Given the description of an element on the screen output the (x, y) to click on. 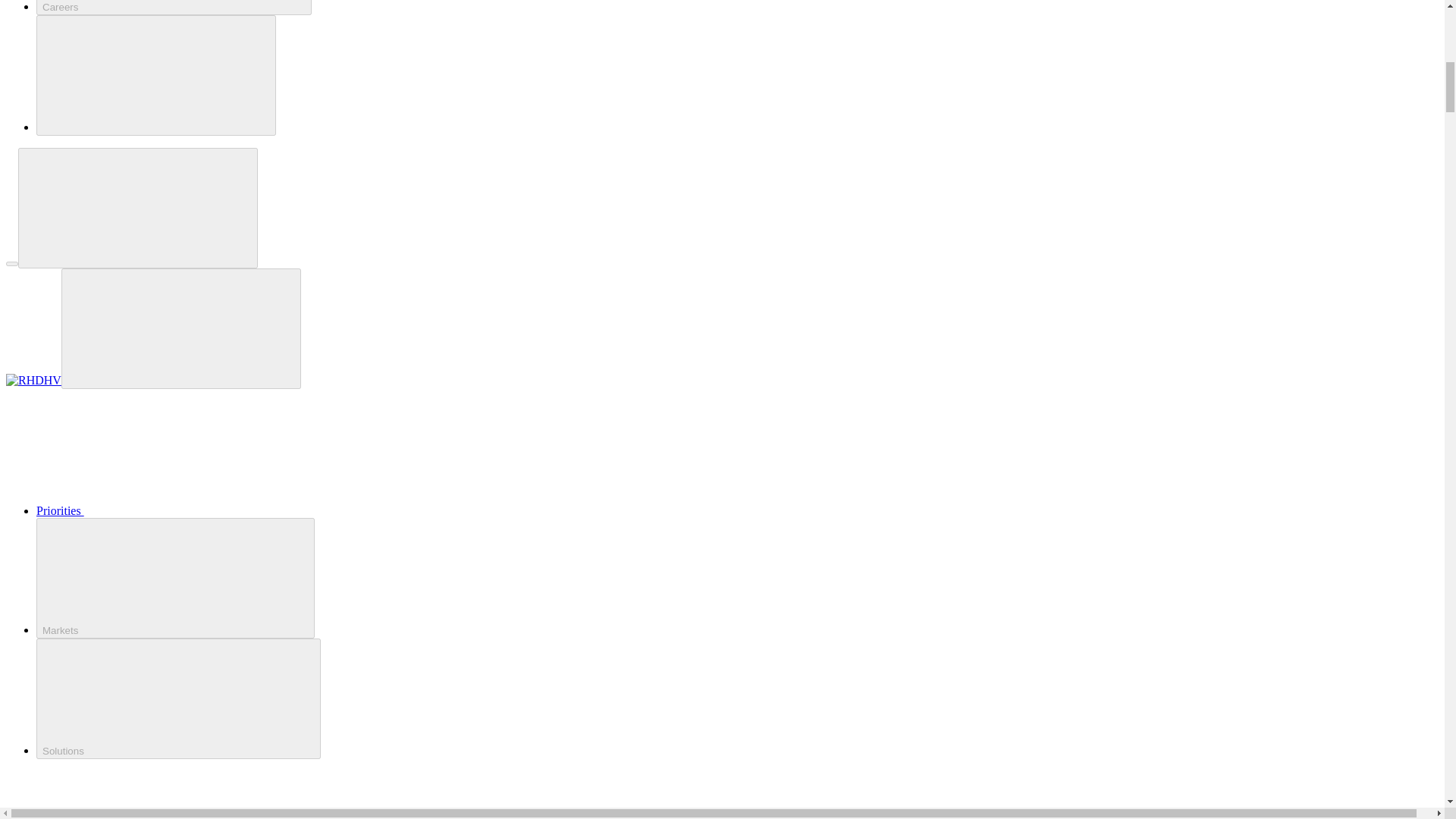
Markets (175, 577)
Careers (173, 7)
Priorities (173, 510)
Solutions (178, 698)
